Given the description of an element on the screen output the (x, y) to click on. 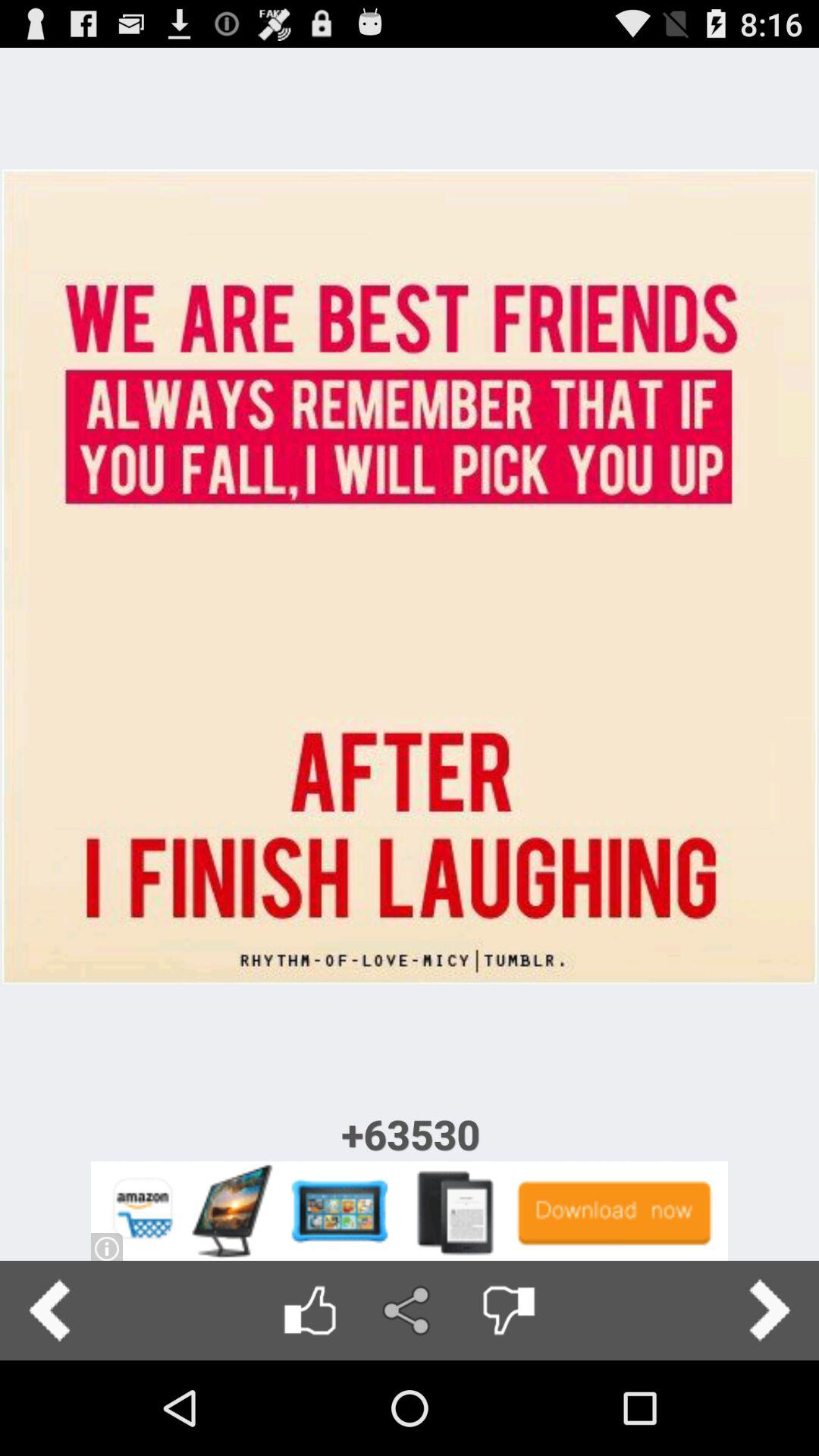
like the content (309, 1310)
